Given the description of an element on the screen output the (x, y) to click on. 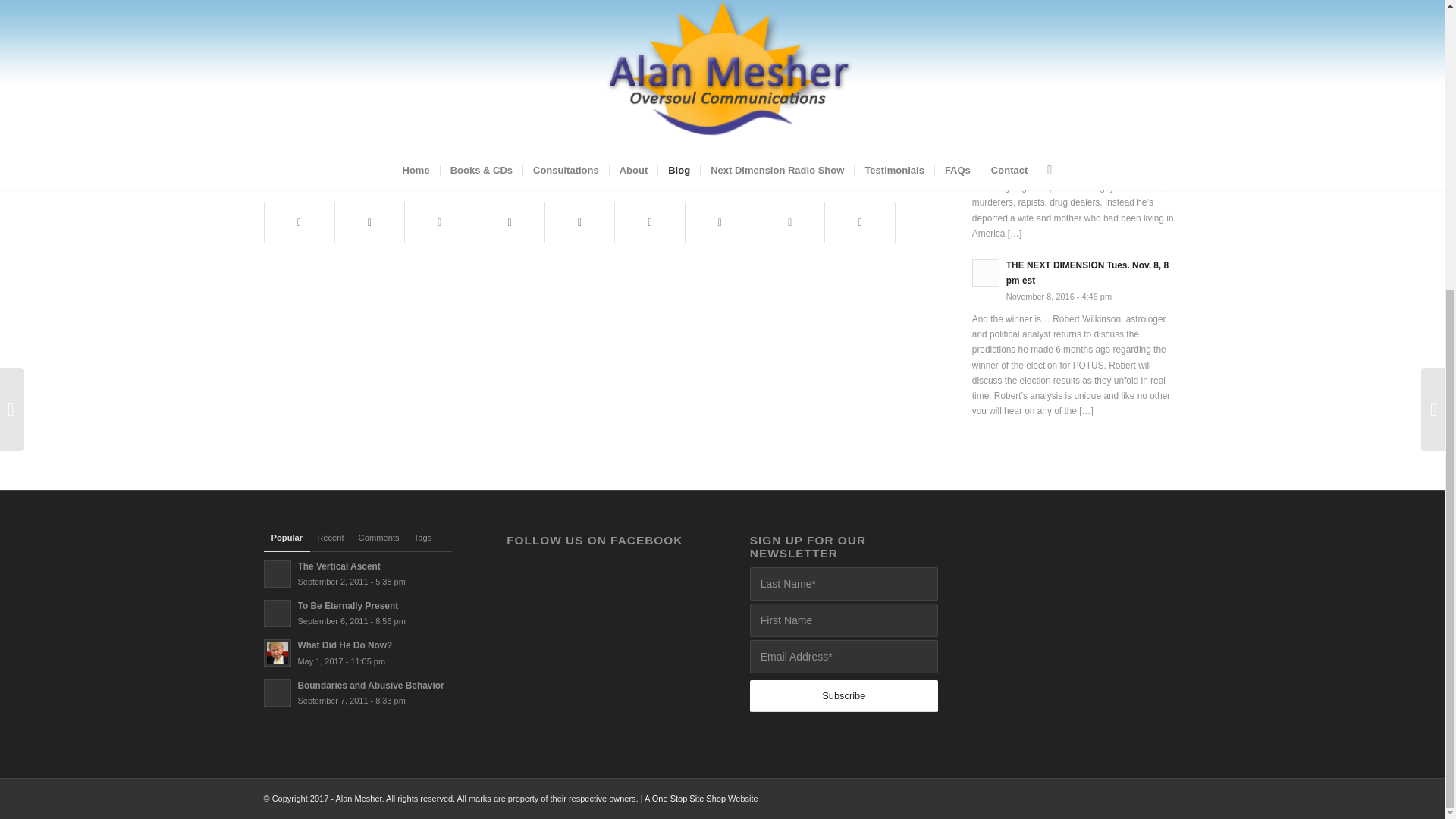
Read: THE NEXT DIMENSION Tues. Nov. 8, 8 pm est (985, 272)
Read: What Did He Do Now? (985, 110)
Read: THE NEXT DIMENSION Tues. Nov. 8, 8 pm est (1087, 272)
The Vertical Ascent (338, 566)
To Be Eternally Present (347, 605)
THE NEXT DIMENSION Tues. Nov. 8, 8 pm est (1087, 272)
Read: What Did He Do Now? (1053, 102)
Subscribe (843, 695)
What Did He Do Now? (1053, 102)
